Given the description of an element on the screen output the (x, y) to click on. 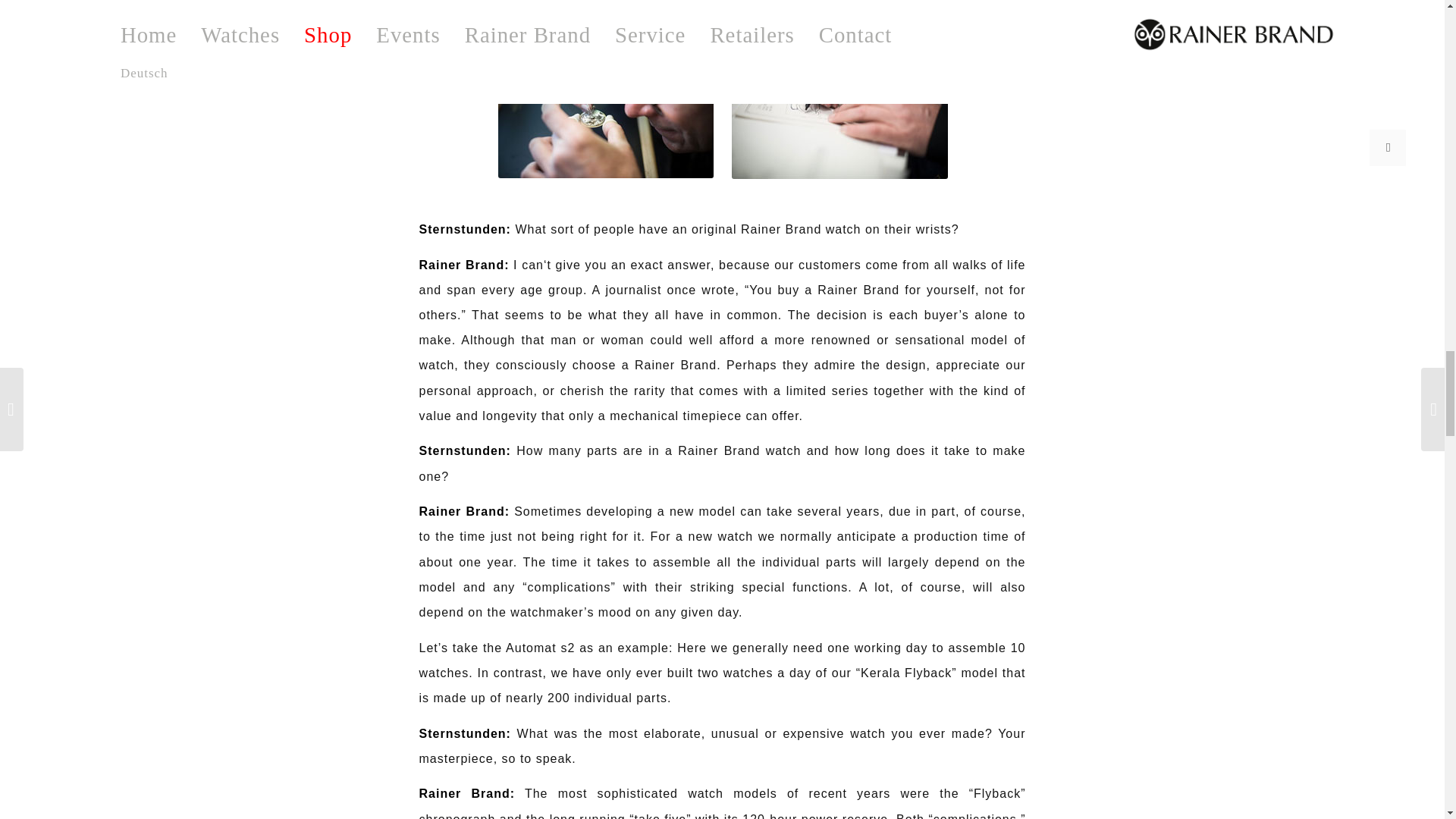
sternstunden-en-4 (838, 107)
sternstunden-en-3 (605, 106)
